Given the description of an element on the screen output the (x, y) to click on. 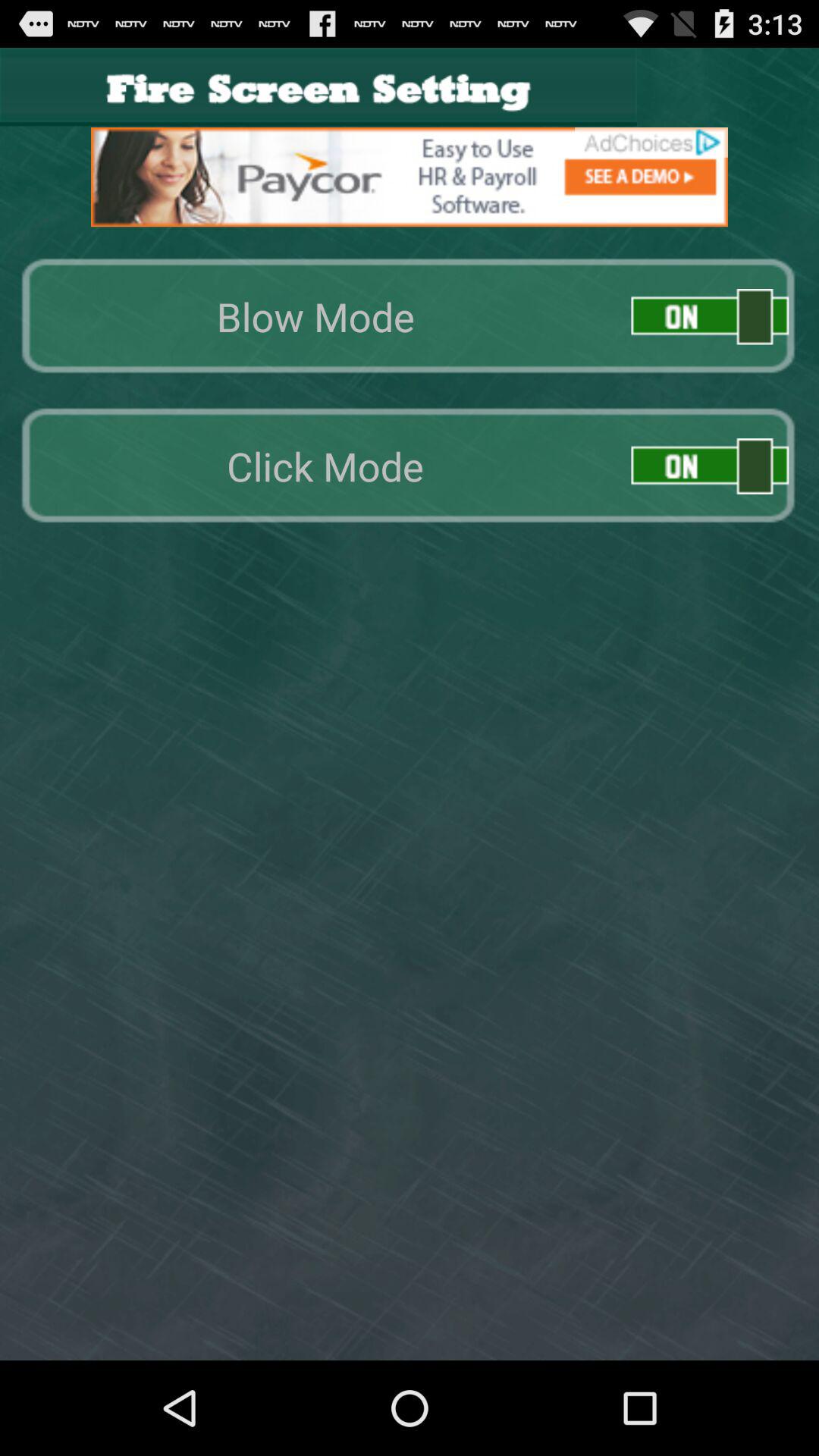
for advertisement (409, 176)
